Given the description of an element on the screen output the (x, y) to click on. 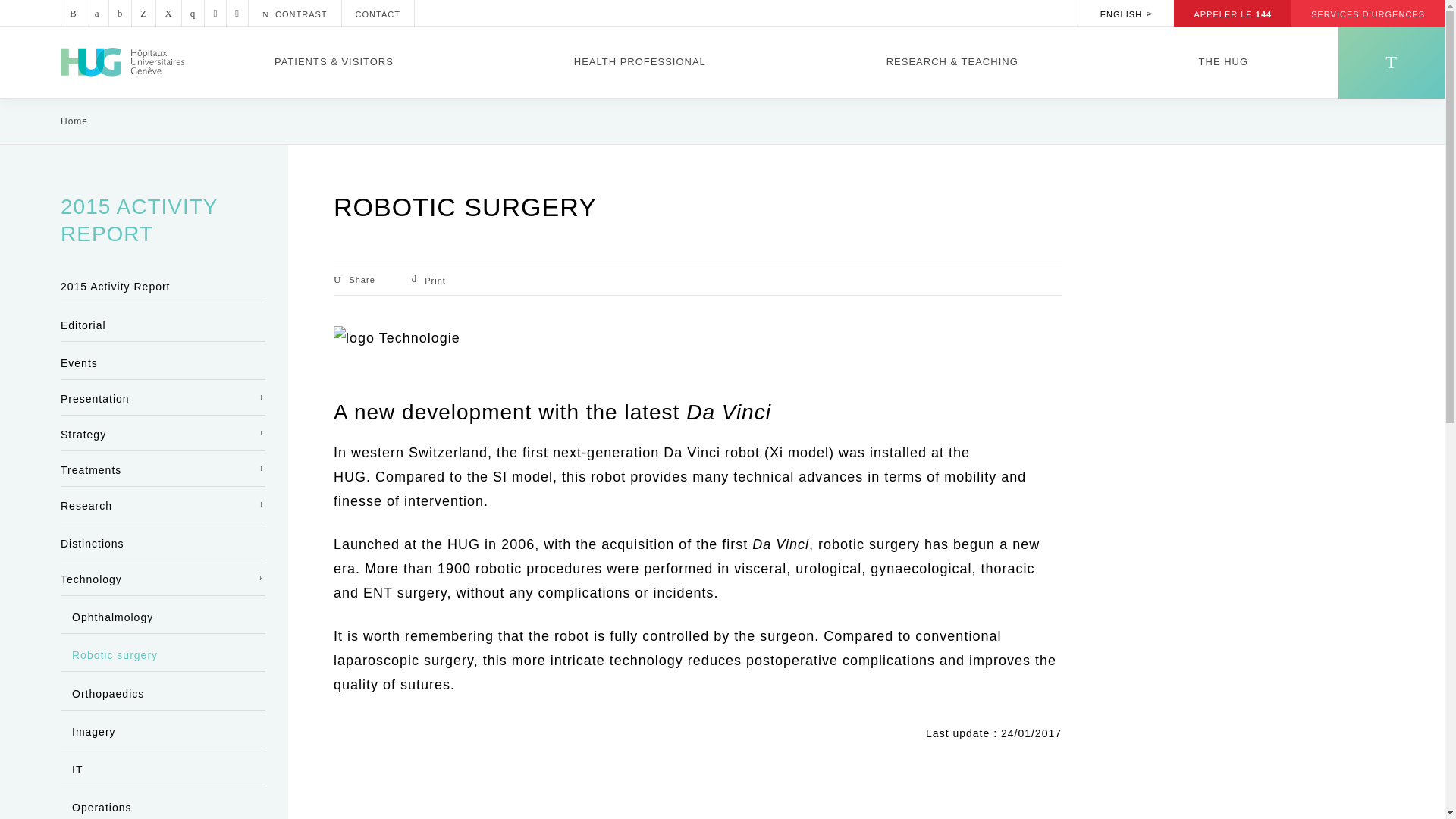
APPELER LE 144 (1232, 13)
Home (122, 62)
CONTACT (377, 13)
Research (951, 61)
CONTRAST (293, 13)
HEALTH PROFESSIONAL (639, 61)
